Given the description of an element on the screen output the (x, y) to click on. 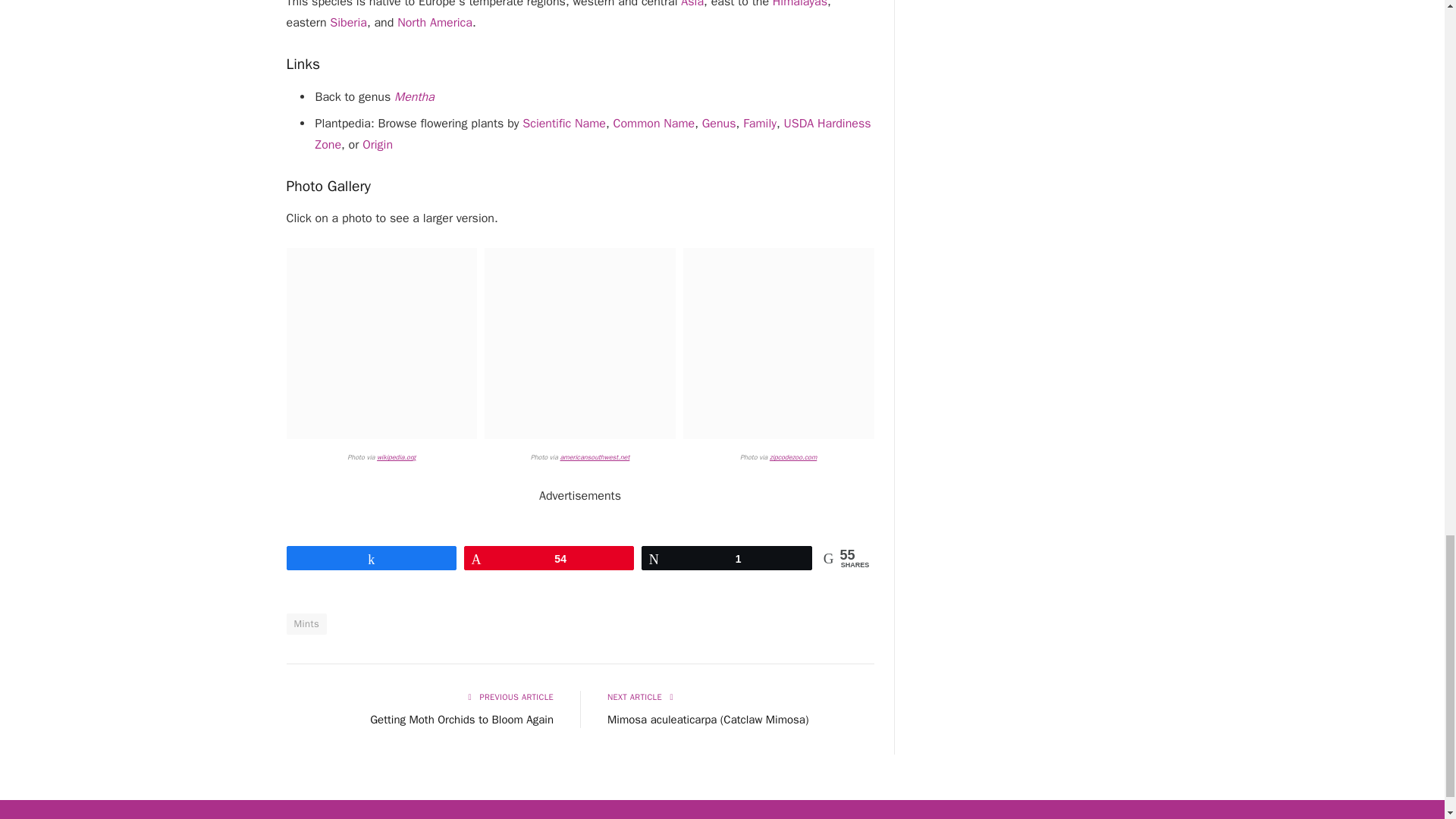
Browse Flowering Plants by Family (759, 123)
Browse Flowering Plants by Common Name (653, 123)
Browse Flowering Plants by Scientific Name (563, 123)
Browse Flowering Plants by Origin (377, 144)
Browse Flowering Plants by Genus (718, 123)
